Given the description of an element on the screen output the (x, y) to click on. 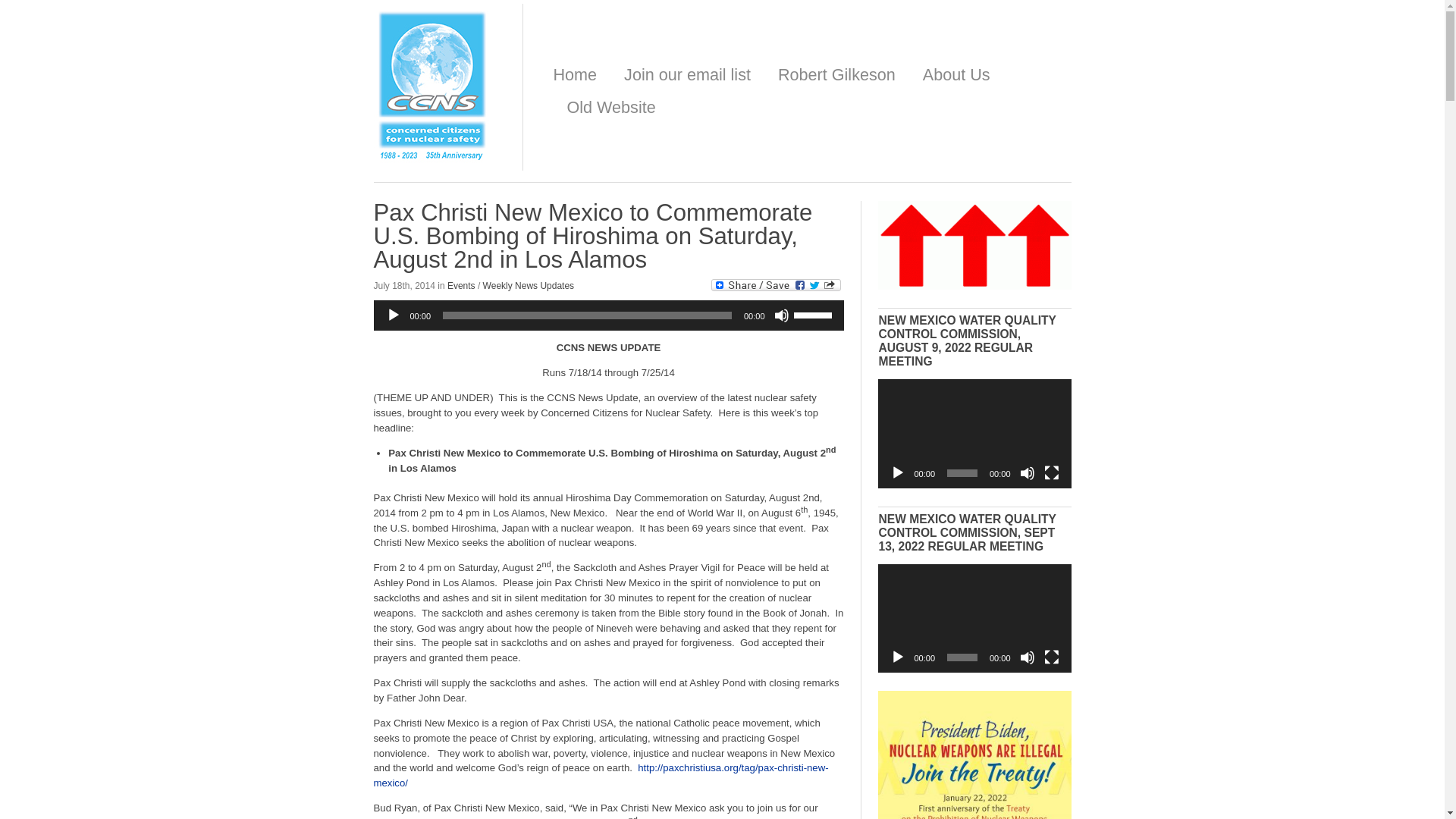
About Us (956, 75)
Robert Gilkeson (836, 75)
Play (392, 314)
Mute (1026, 473)
Home (574, 75)
Join our email list (687, 75)
Old Website (611, 107)
Fullscreen (1050, 473)
Weekly News Updates (529, 285)
Fullscreen (1050, 657)
